Given the description of an element on the screen output the (x, y) to click on. 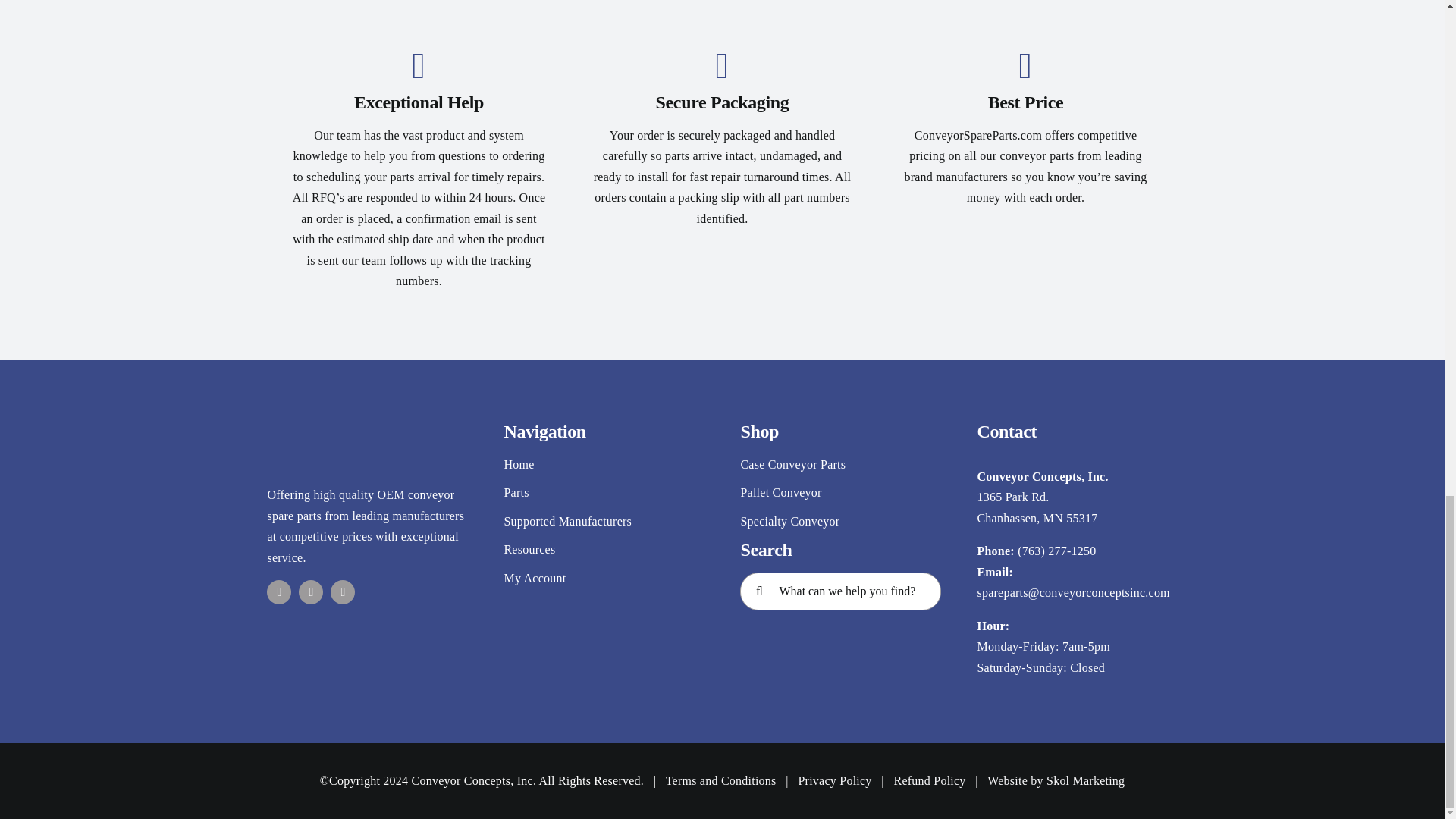
Instagram (310, 591)
SparePartsLogo-white (366, 442)
LinkedIn (342, 591)
Facebook (278, 591)
